Given the description of an element on the screen output the (x, y) to click on. 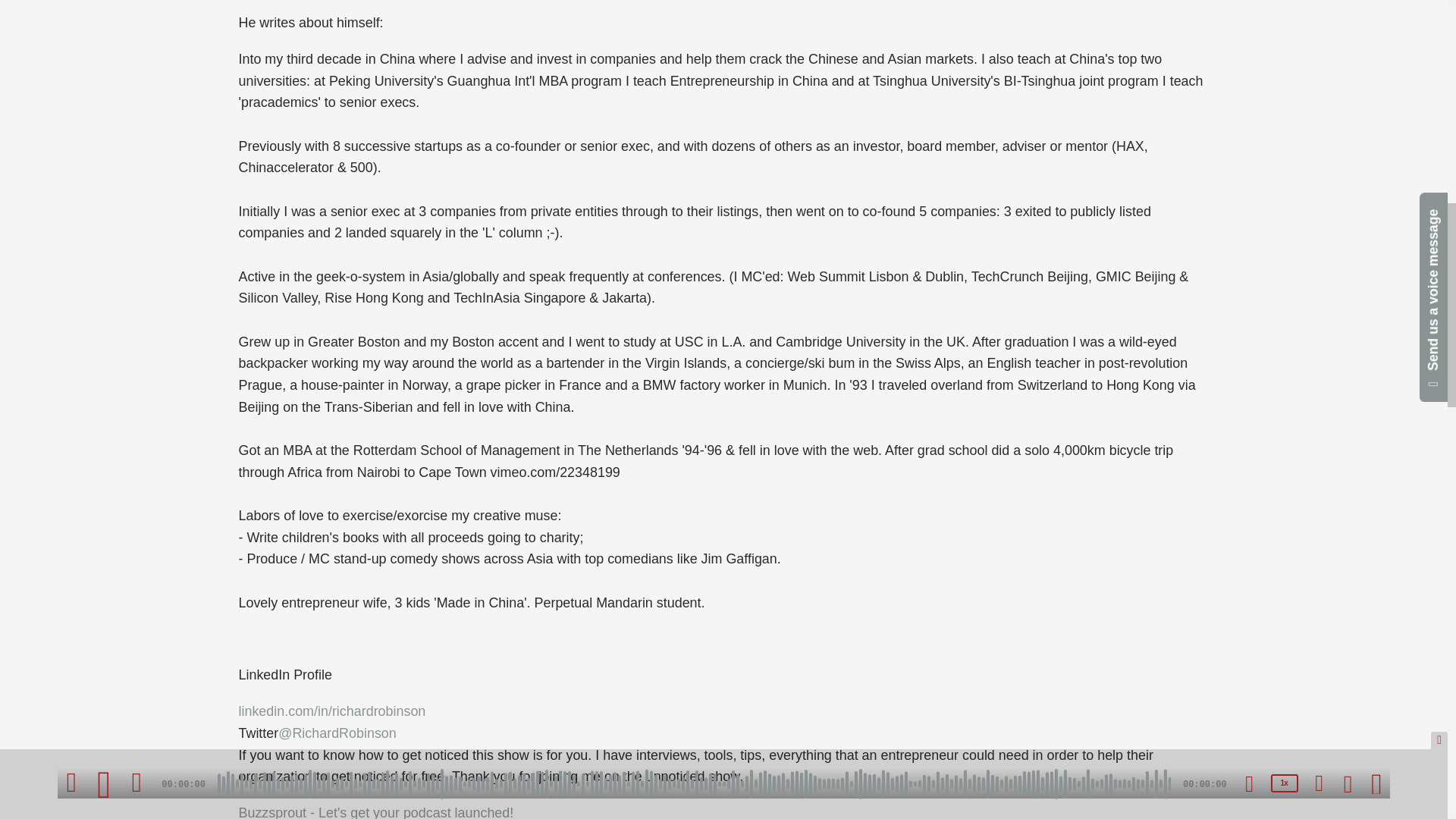
Buzzsprout - Let's get your podcast launched! (375, 812)
